Given the description of an element on the screen output the (x, y) to click on. 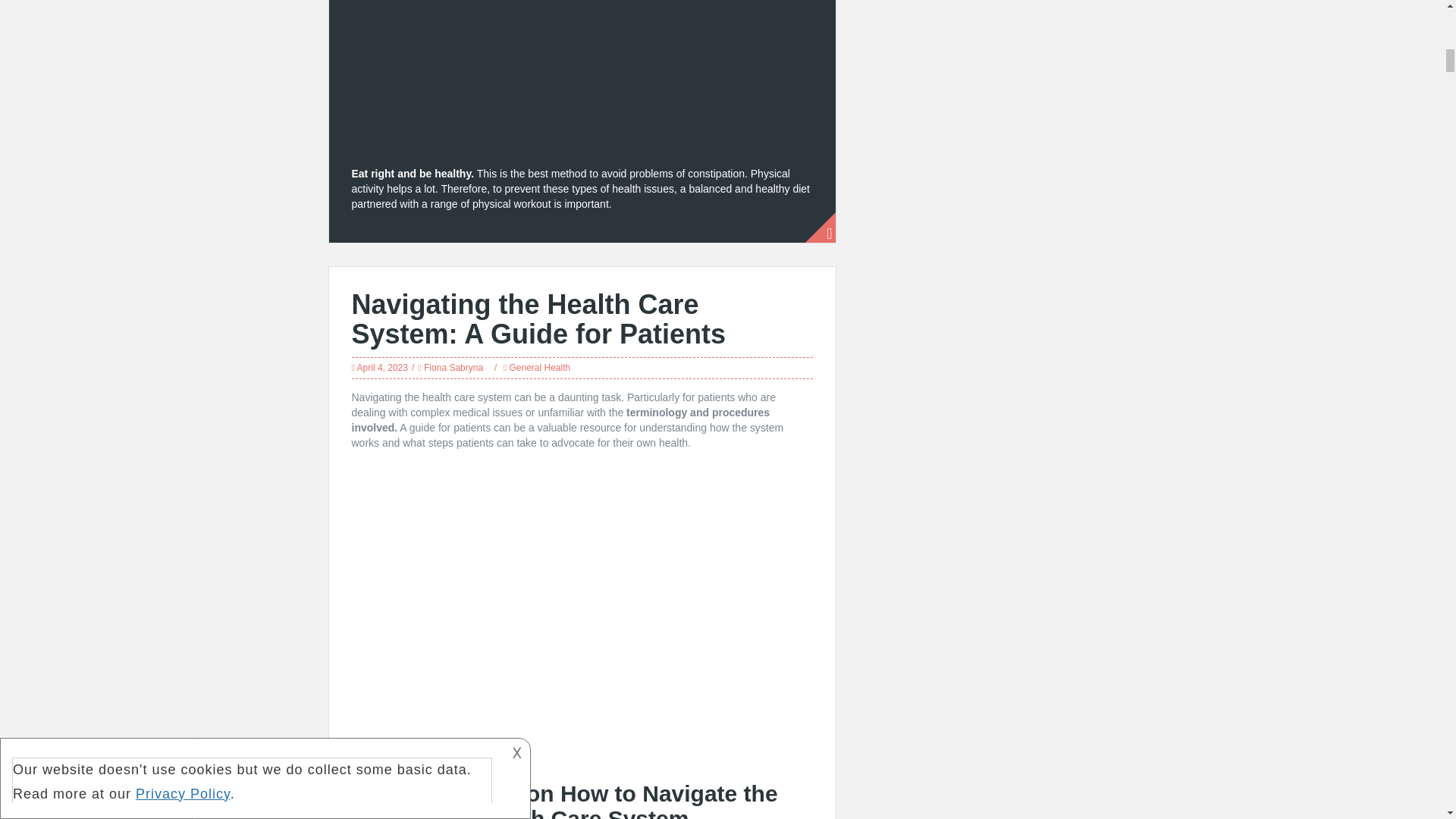
How to Relieve Constipation with Natural Movements (582, 79)
Navigating the Health Care System: A Guide for Patients (538, 319)
April 4, 2023 (381, 367)
